Given the description of an element on the screen output the (x, y) to click on. 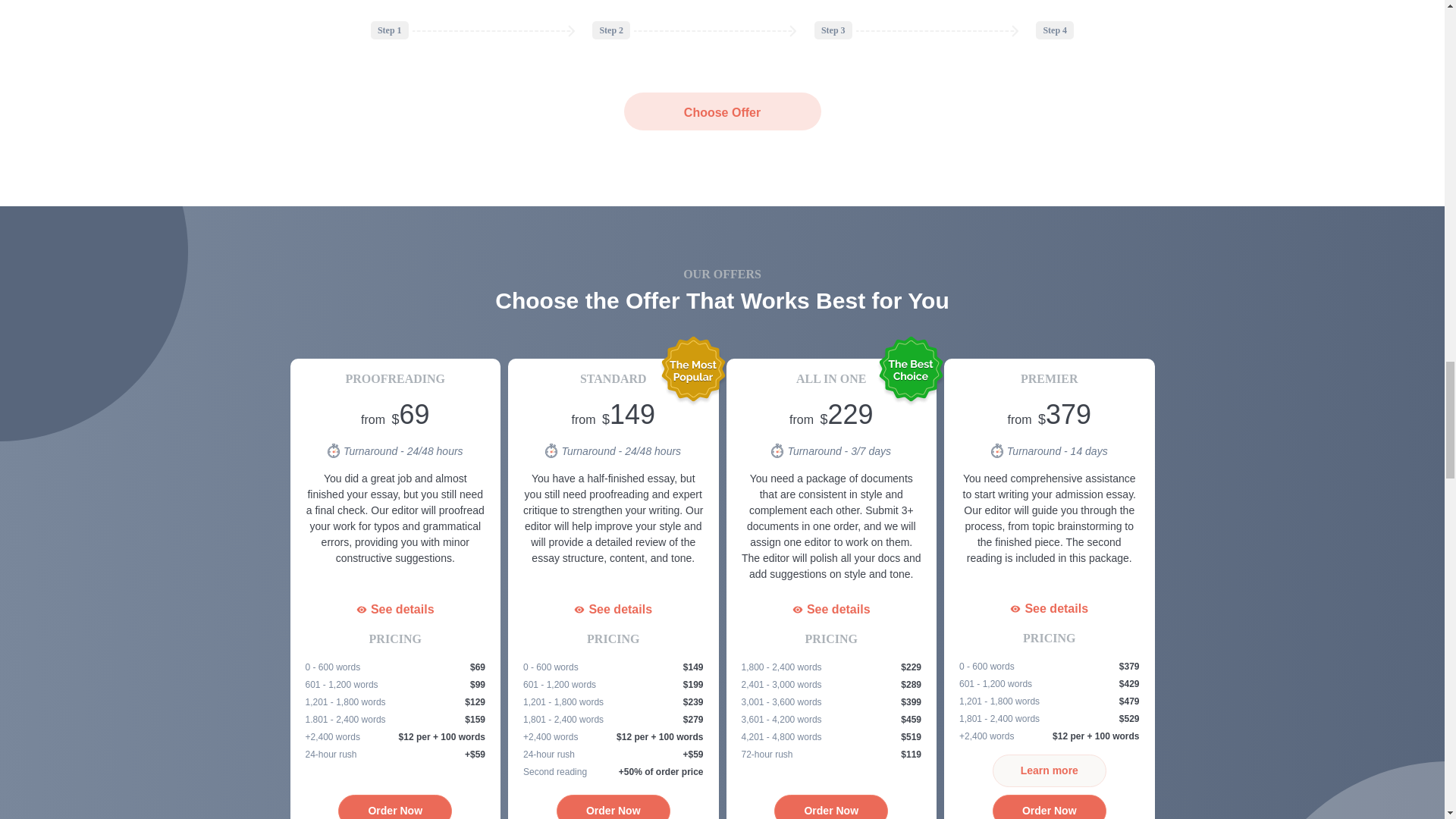
See details (612, 609)
See details (394, 609)
See details (1049, 608)
See details (831, 609)
